Given the description of an element on the screen output the (x, y) to click on. 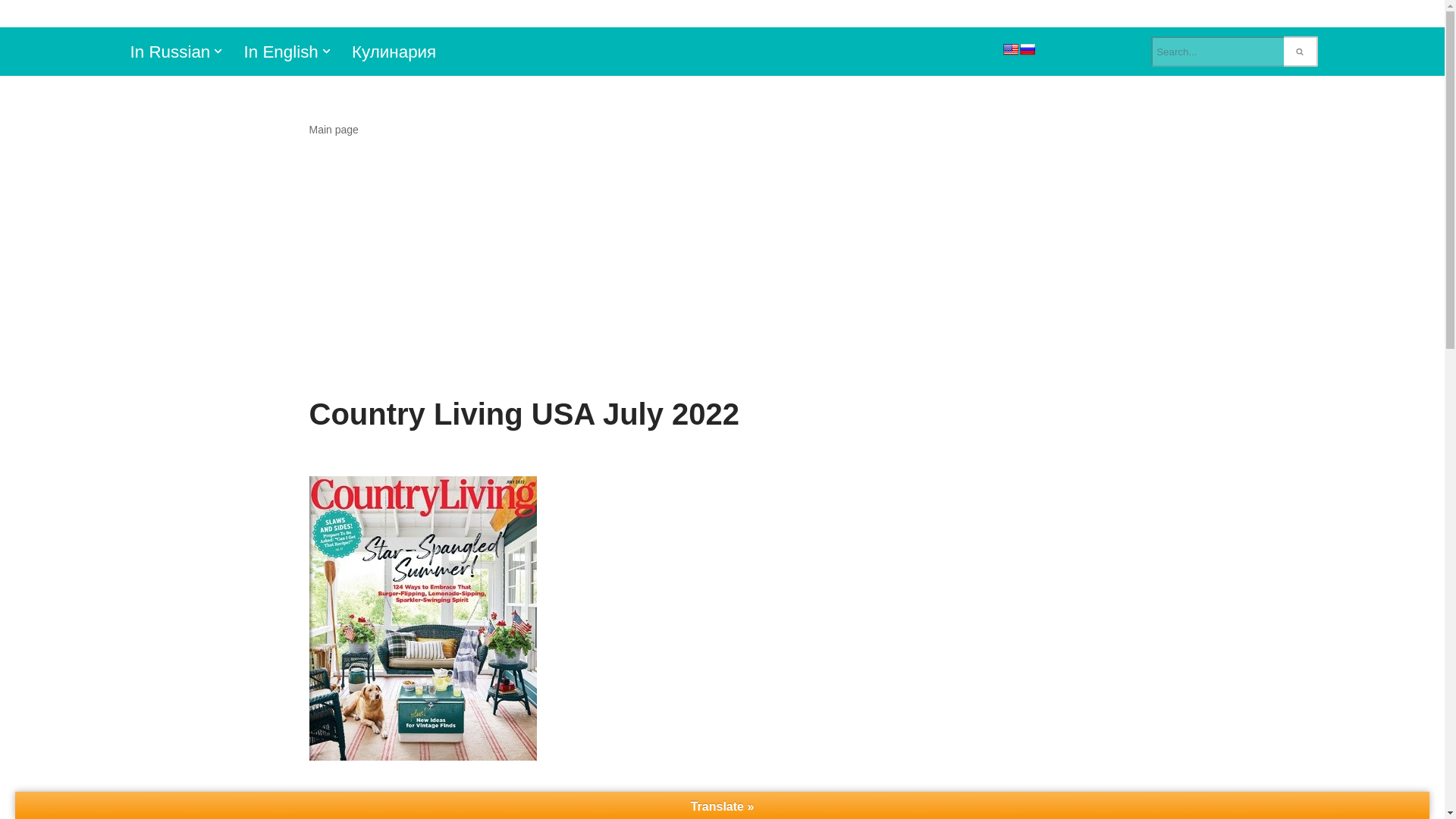
In Russian (171, 51)
English (1010, 49)
Russian (1026, 49)
In English (280, 51)
